Given the description of an element on the screen output the (x, y) to click on. 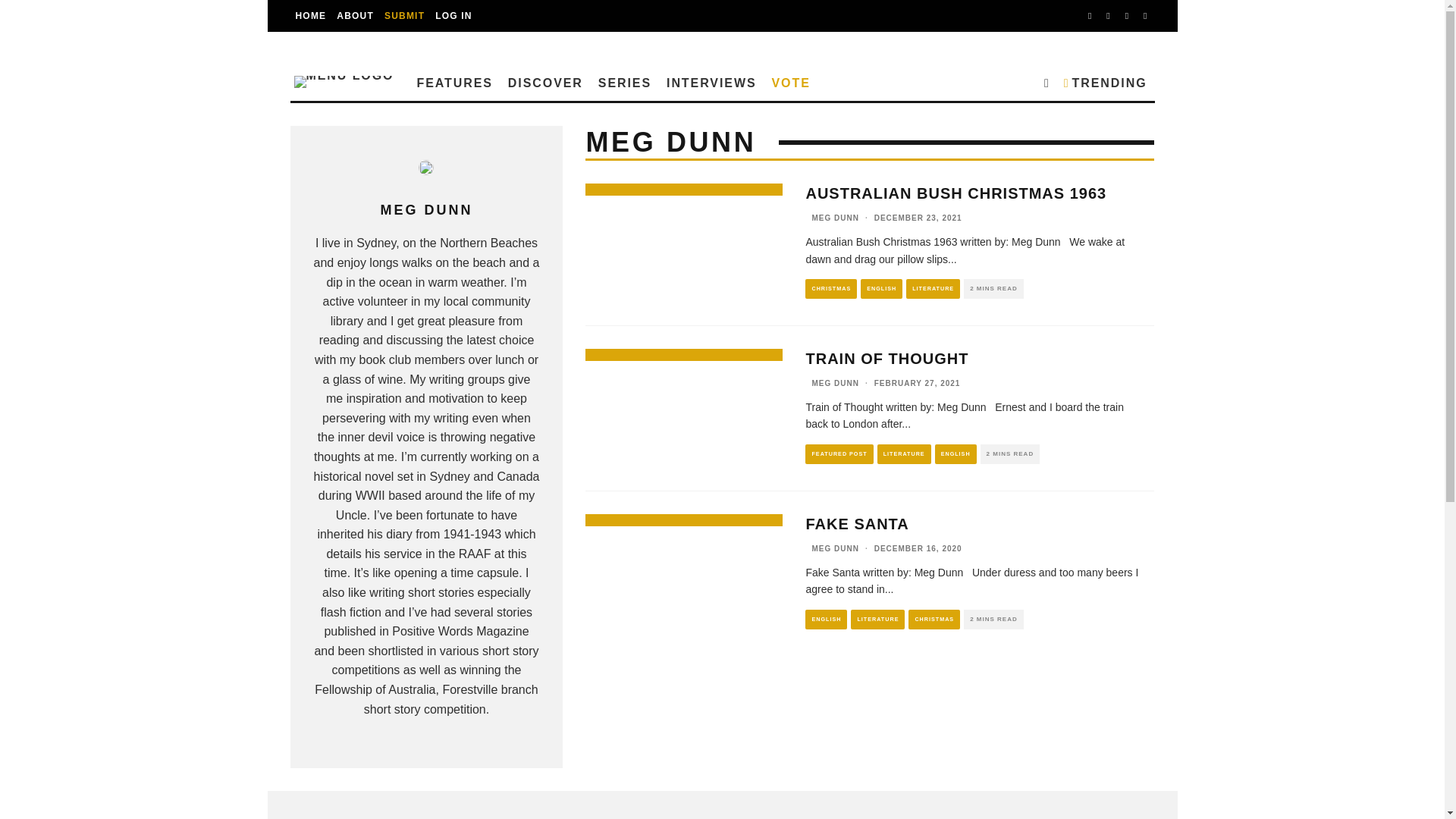
SUBMIT (403, 15)
HOME (310, 15)
LOG IN (453, 15)
DISCOVER (545, 81)
ABOUT (354, 15)
FEATURES (454, 81)
